Given the description of an element on the screen output the (x, y) to click on. 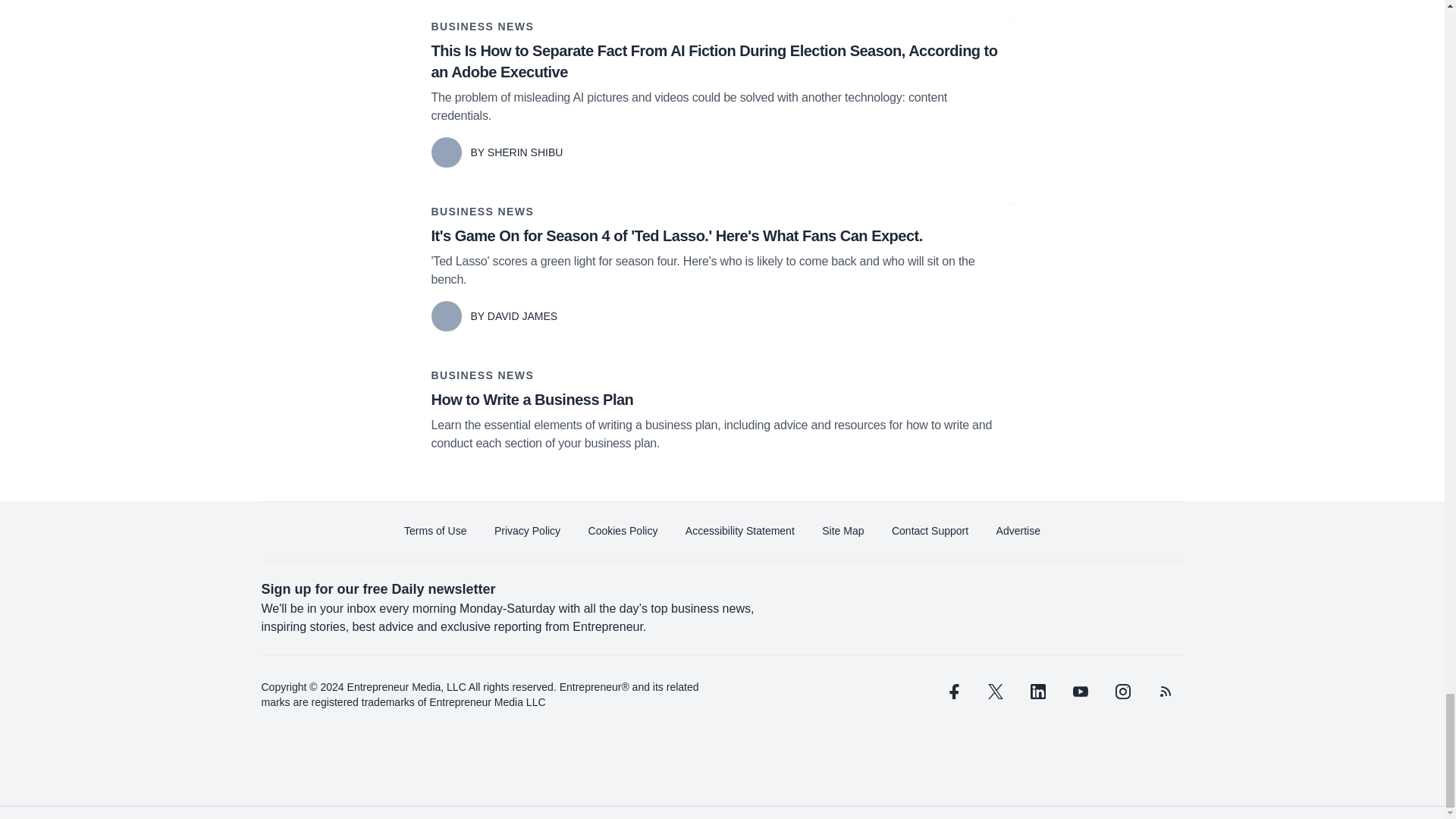
youtube (1079, 691)
twitter (994, 691)
rss (1164, 691)
facebook (952, 691)
linkedin (1037, 691)
instagram (1121, 691)
